Given the description of an element on the screen output the (x, y) to click on. 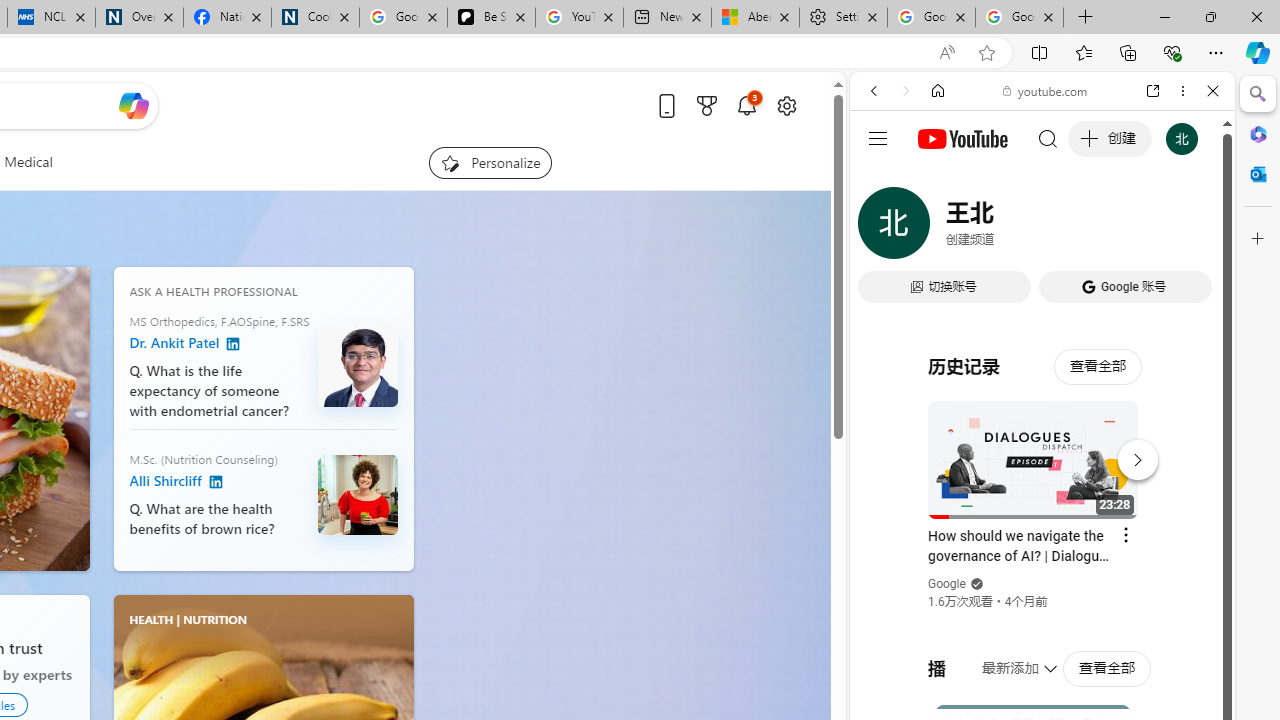
Preferences (1189, 228)
youtube.com (1046, 90)
Be Smart | creating Science videos | Patreon (491, 17)
Global web icon (888, 288)
Open settings (786, 105)
Personalize your feed" (489, 162)
#you (1042, 445)
Aberdeen, Hong Kong SAR hourly forecast | Microsoft Weather (754, 17)
